Given the description of an element on the screen output the (x, y) to click on. 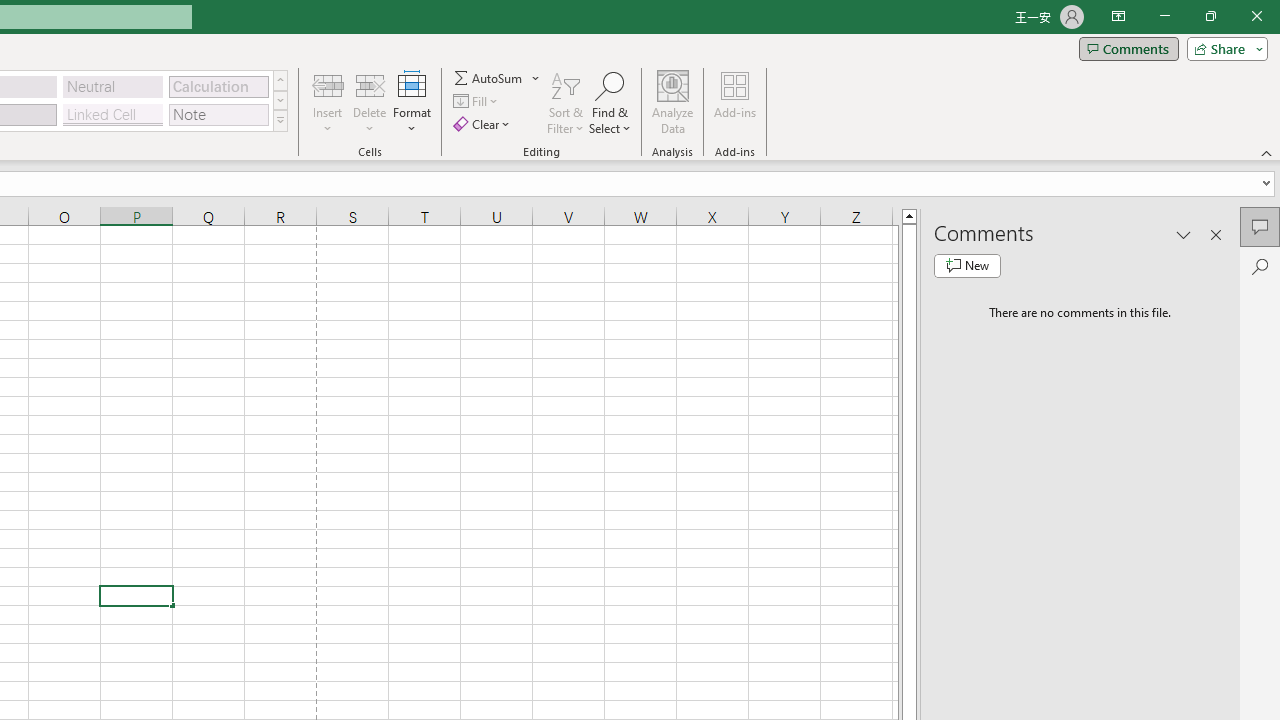
Calculation (218, 86)
Close (1256, 16)
Task Pane Options (1183, 234)
Restore Down (1210, 16)
Insert Cells (328, 84)
Collapse the Ribbon (1267, 152)
